Given the description of an element on the screen output the (x, y) to click on. 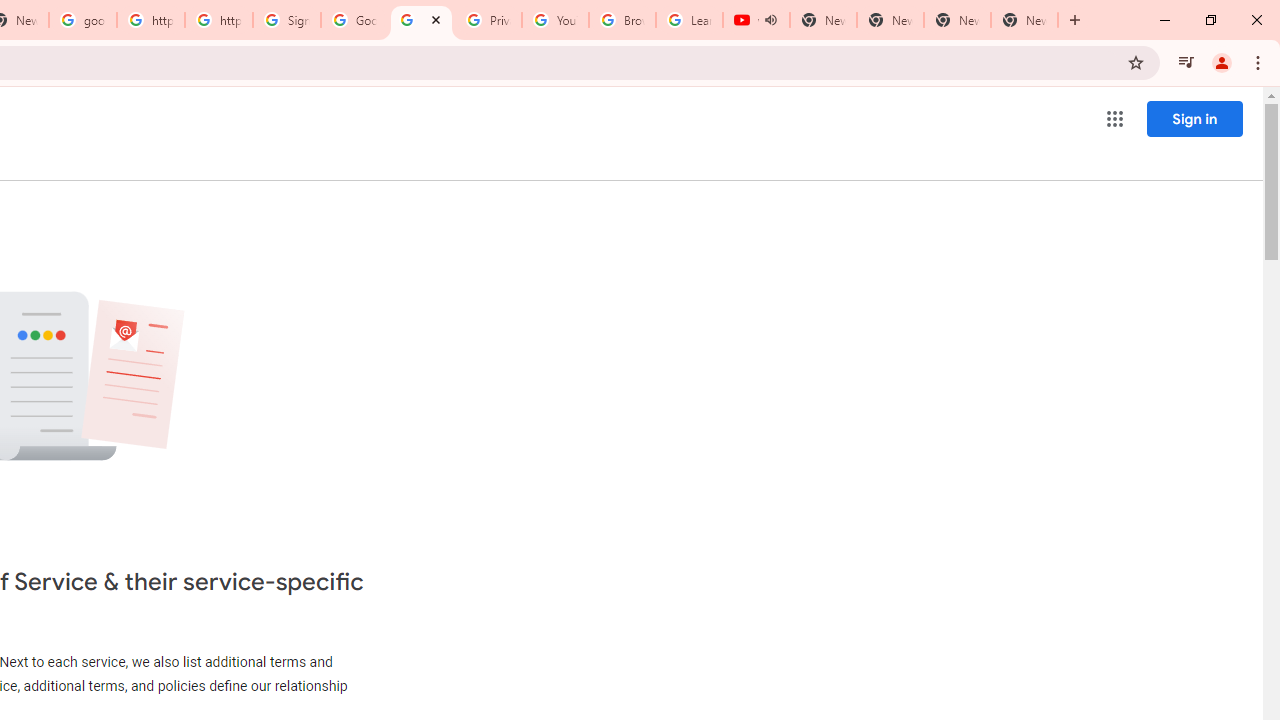
https://scholar.google.com/ (150, 20)
New Tab (1024, 20)
YouTube (555, 20)
